Given the description of an element on the screen output the (x, y) to click on. 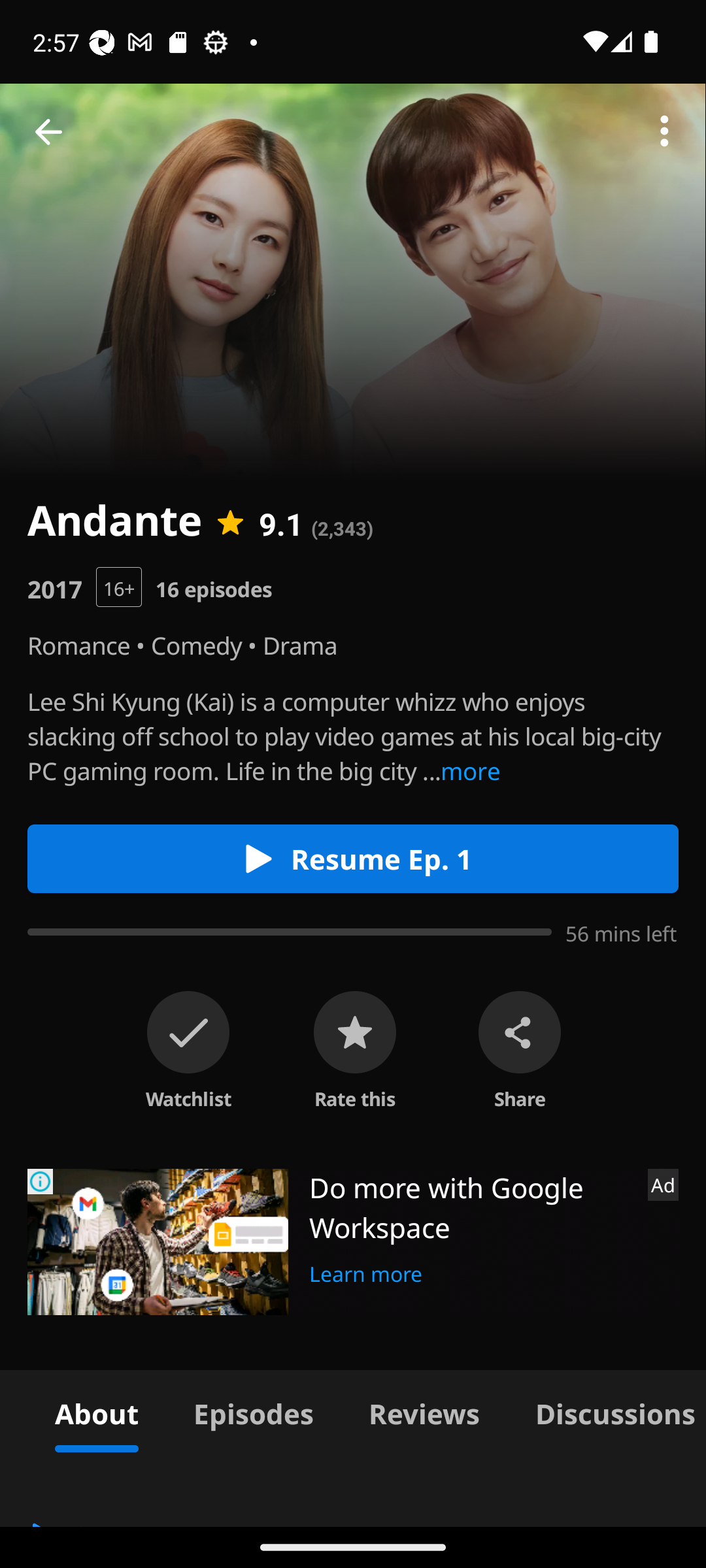
More (664, 131)
on (187, 1032)
Ad Choices Icon (39, 1181)
Do more with Google Workspace (471, 1207)
Learn more (365, 1271)
Episodes (252, 1410)
Reviews (423, 1410)
Discussions (606, 1410)
